Given the description of an element on the screen output the (x, y) to click on. 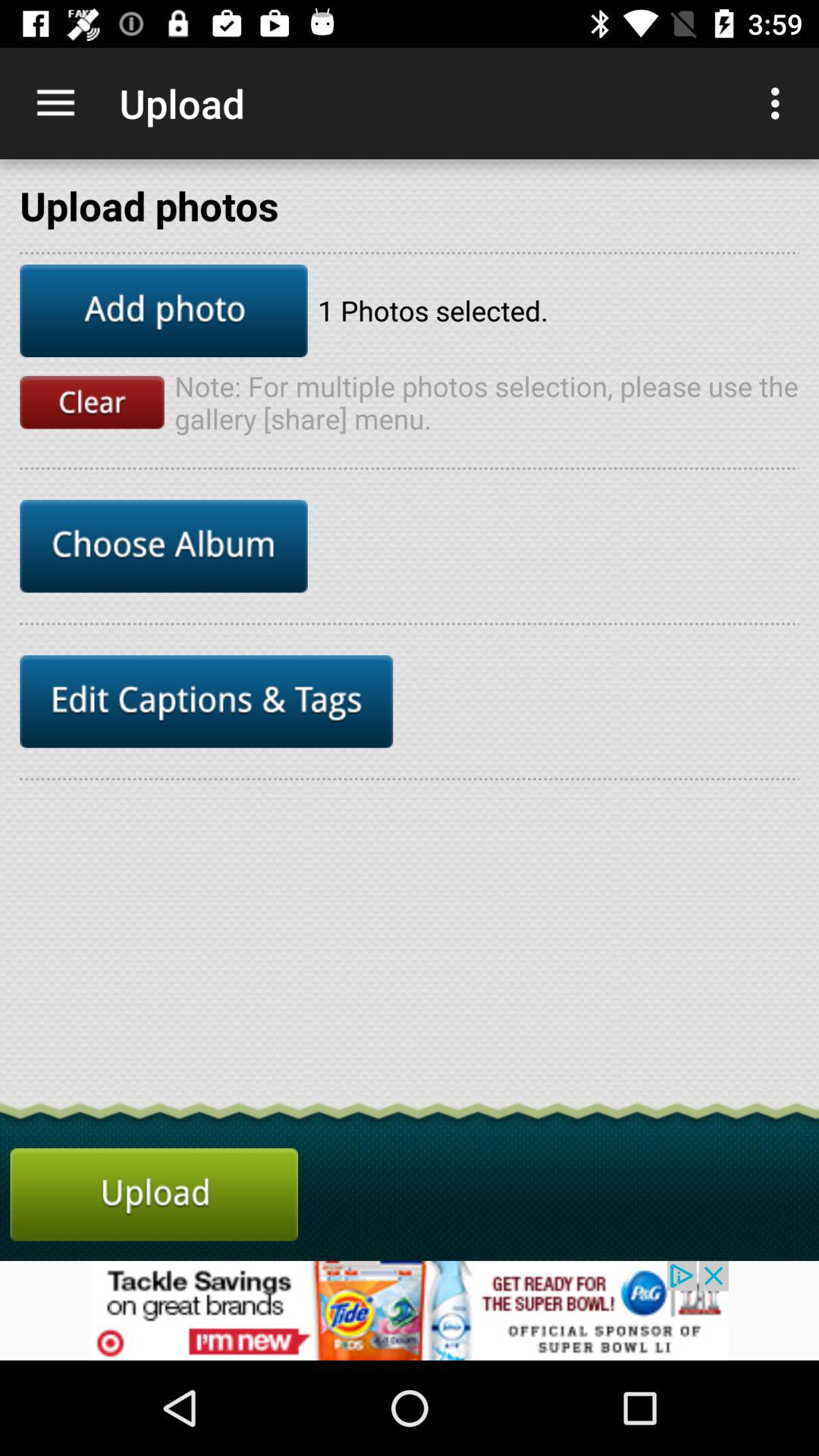
choose album button (163, 545)
